Given the description of an element on the screen output the (x, y) to click on. 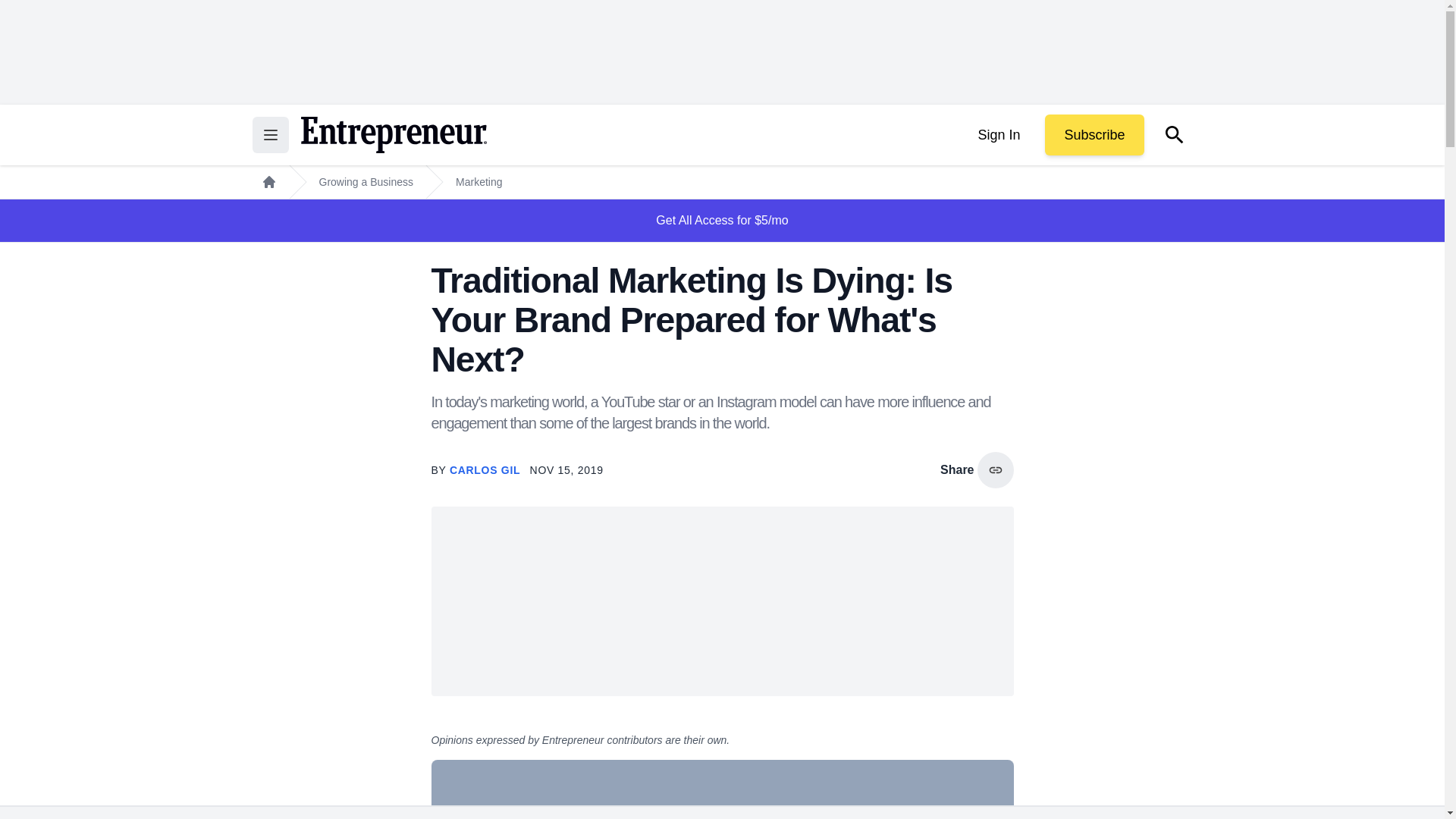
Marketing (478, 181)
Home (268, 181)
Subscribe (1093, 134)
copy (994, 470)
Sign In (998, 134)
Growing a Business (365, 181)
CARLOS GIL (486, 469)
Return to the home page (392, 135)
